Given the description of an element on the screen output the (x, y) to click on. 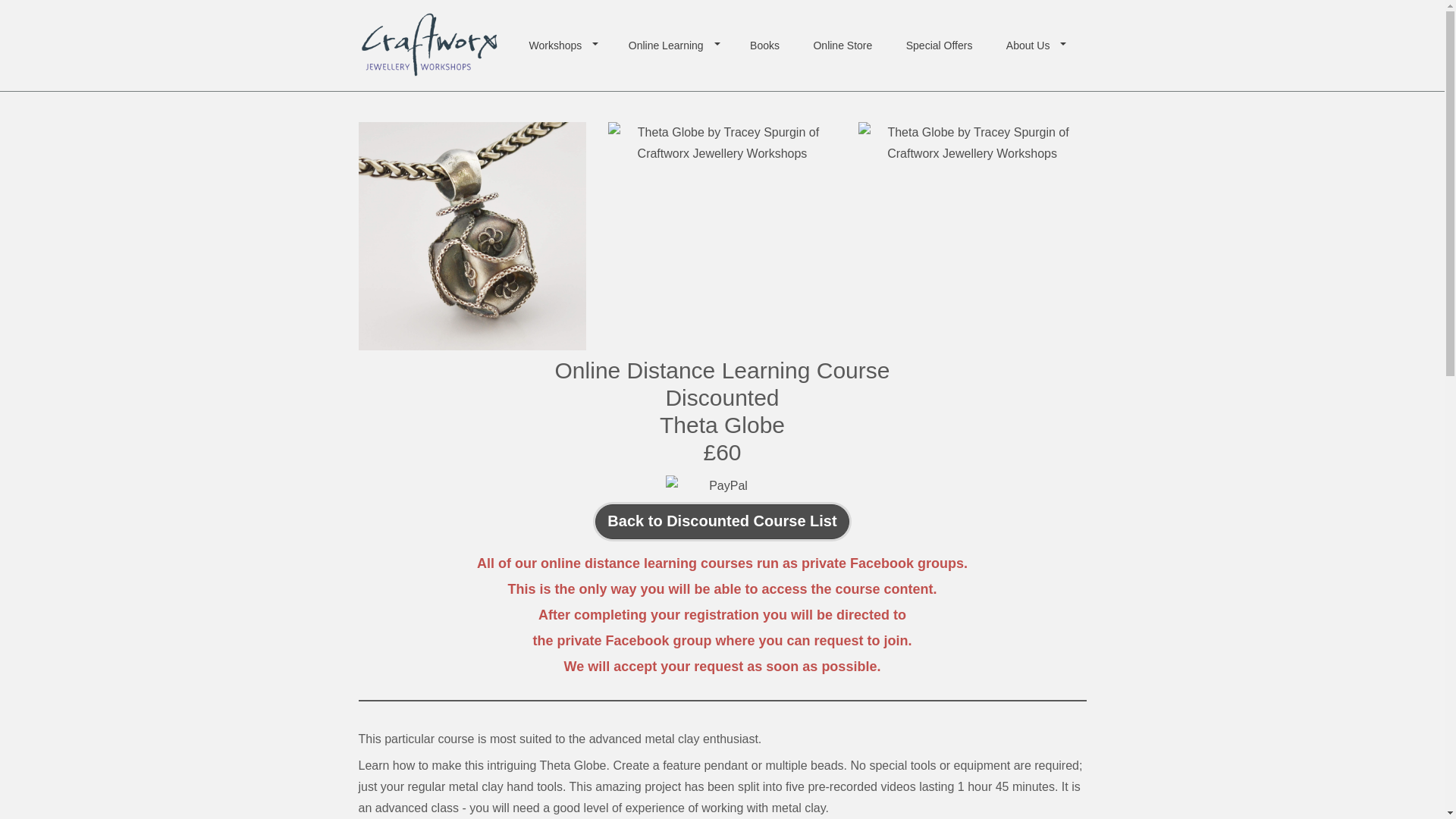
Back to Discounted Course List (721, 521)
Online Store (841, 45)
Books (764, 45)
Special Offers (939, 45)
